Given the description of an element on the screen output the (x, y) to click on. 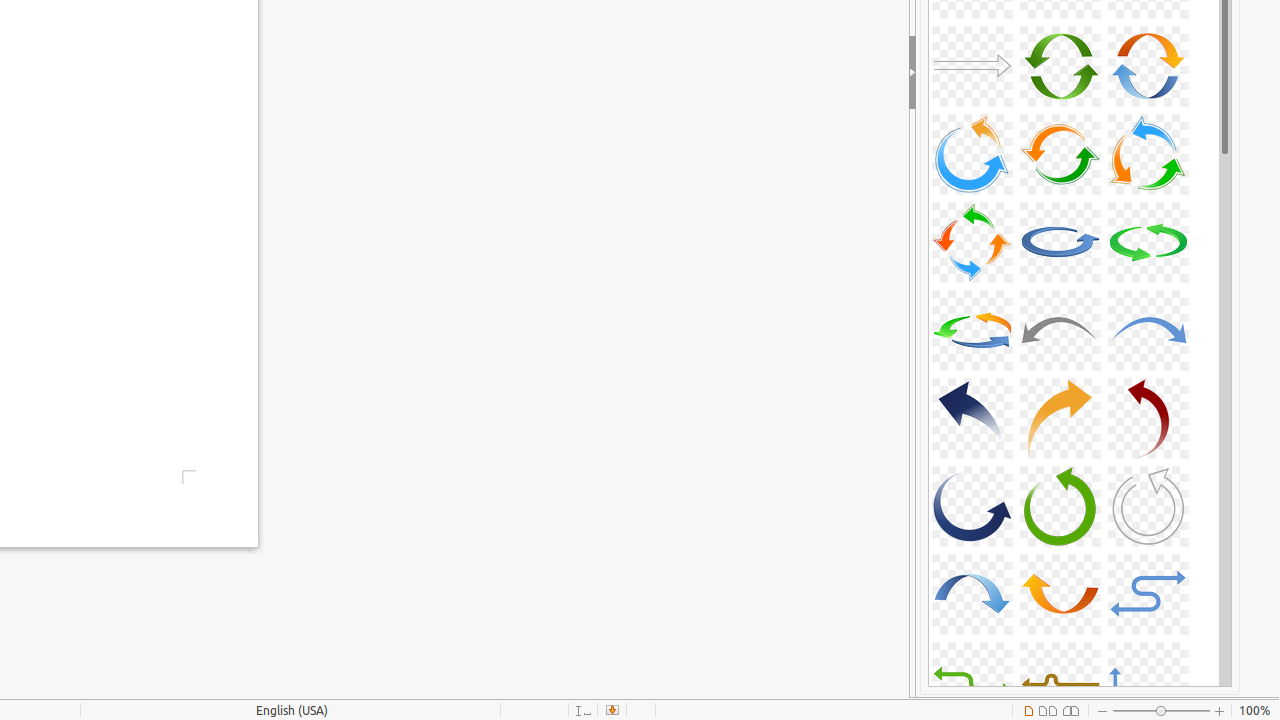
A24-CurvedArrow-LightBlue-Right Element type: list-item (1148, 330)
A33-CurvedArrow-LightBlue-TwoDirections Element type: list-item (1148, 594)
A27-CurvedArrow-DarkRed Element type: list-item (1148, 417)
A15-CircleArrow Element type: list-item (1148, 65)
A17-CircleArrow Element type: list-item (1060, 154)
